Given the description of an element on the screen output the (x, y) to click on. 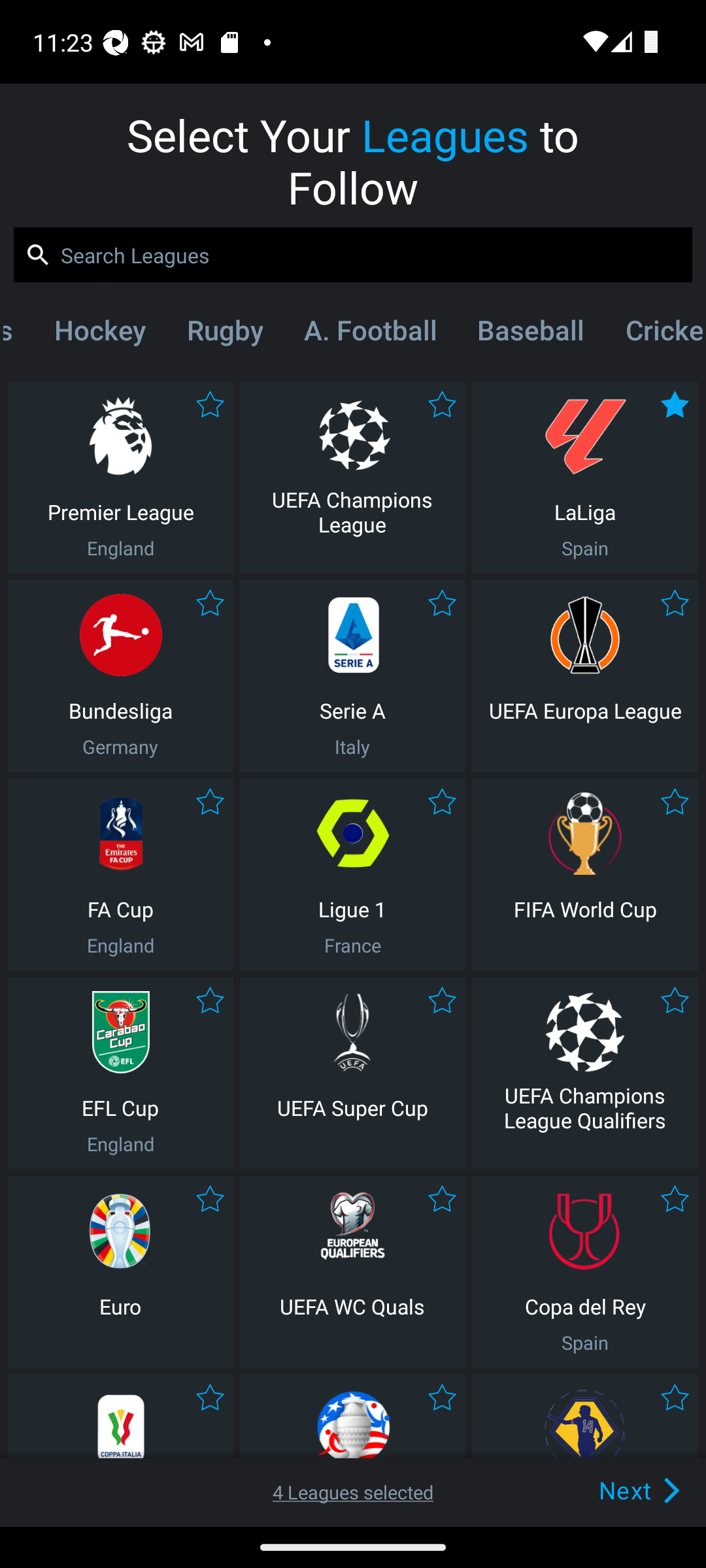
Search Leagues (352, 254)
Hockey (99, 333)
Rugby (224, 333)
A. Football (369, 333)
Baseball (530, 333)
Cricket (653, 333)
Premier League England (120, 477)
UEFA Champions League (352, 477)
LaLiga Spain (585, 477)
Bundesliga Germany (120, 675)
Serie A Italy (352, 675)
UEFA Europa League (585, 675)
FA Cup England (120, 874)
Ligue 1 France (352, 874)
FIFA World Cup (585, 874)
EFL Cup England (120, 1072)
UEFA Super Cup (352, 1072)
UEFA Champions League Qualifiers (585, 1072)
Euro (120, 1271)
UEFA WC Quals (352, 1271)
Copa del Rey Spain (585, 1271)
Next (609, 1489)
4 Leagues selected (352, 1491)
